Given the description of an element on the screen output the (x, y) to click on. 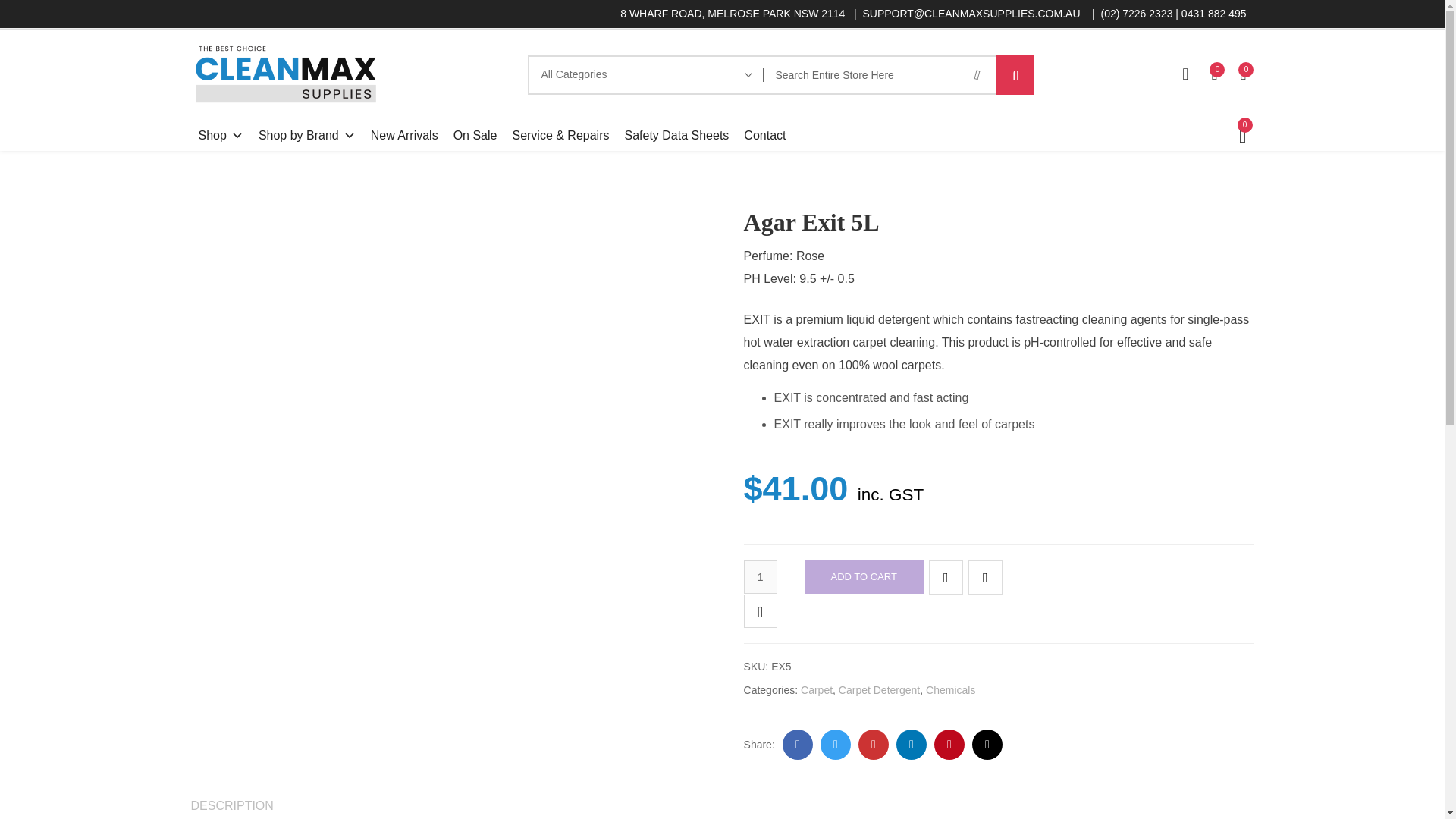
1 (760, 576)
Add to Wishlist (945, 577)
